Given the description of an element on the screen output the (x, y) to click on. 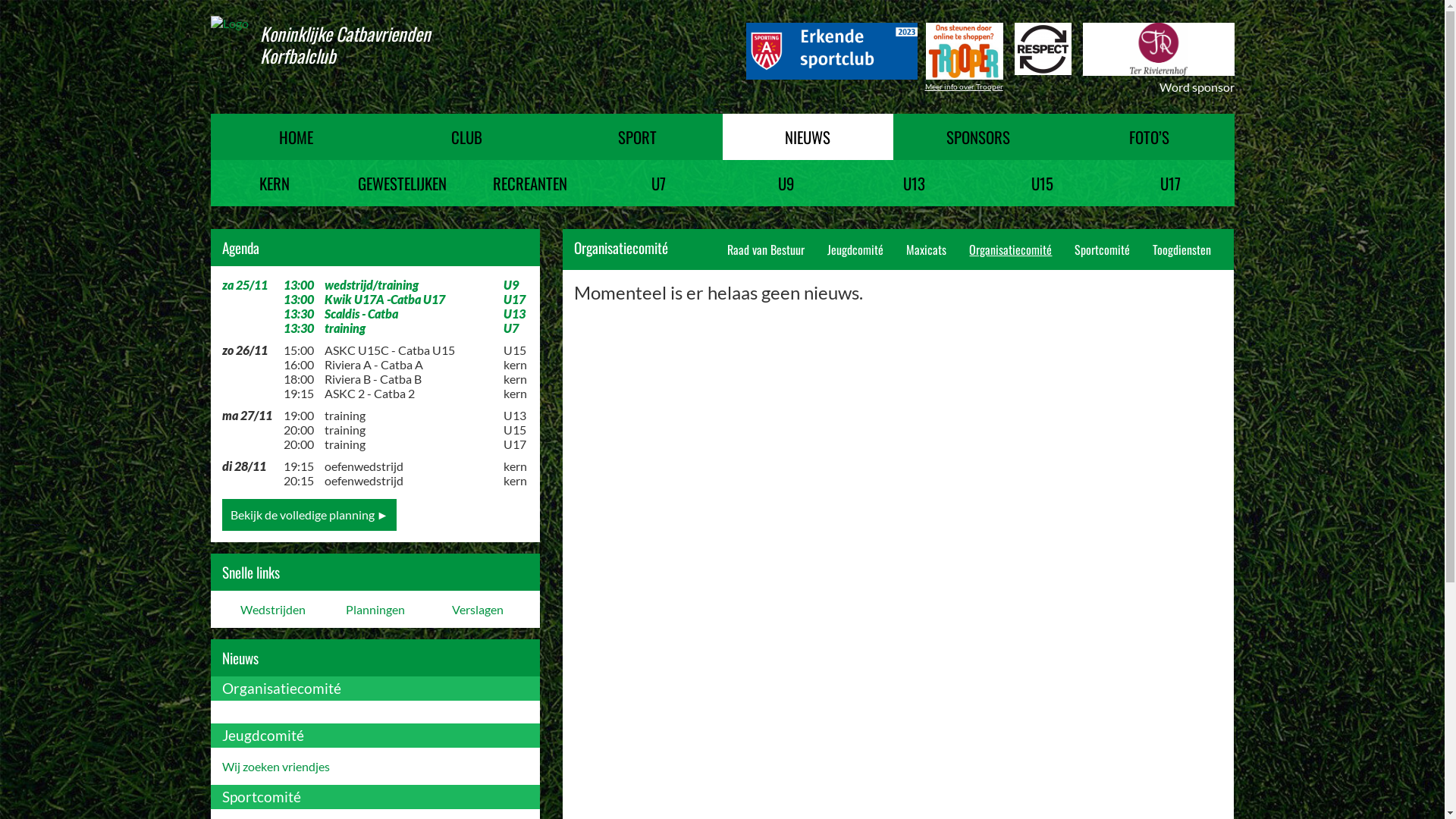
Raad van Bestuur Element type: text (765, 249)
U17 Element type: text (1170, 183)
NIEUWS Element type: text (806, 136)
GEWESTELIJKEN Element type: text (402, 183)
Toogdiensten Element type: text (1181, 249)
RECREANTEN Element type: text (530, 183)
Maxicats Element type: text (926, 249)
Meer info over Trooper Element type: text (964, 86)
CLUB Element type: text (465, 136)
U15 Element type: text (1042, 183)
SPORT Element type: text (637, 136)
KERN Element type: text (274, 183)
Koninklijke Catbavrienden
Korfbalclub Element type: text (326, 44)
Wedstrijden Element type: text (272, 609)
Verslagen Element type: text (477, 609)
U9 Element type: text (785, 183)
SPONSORS Element type: text (978, 136)
HOME Element type: text (295, 136)
Planningen Element type: text (375, 609)
Wij zoeken vriendjes Element type: text (275, 766)
U13 Element type: text (914, 183)
Word sponsor Element type: text (1195, 86)
U7 Element type: text (658, 183)
